Given the description of an element on the screen output the (x, y) to click on. 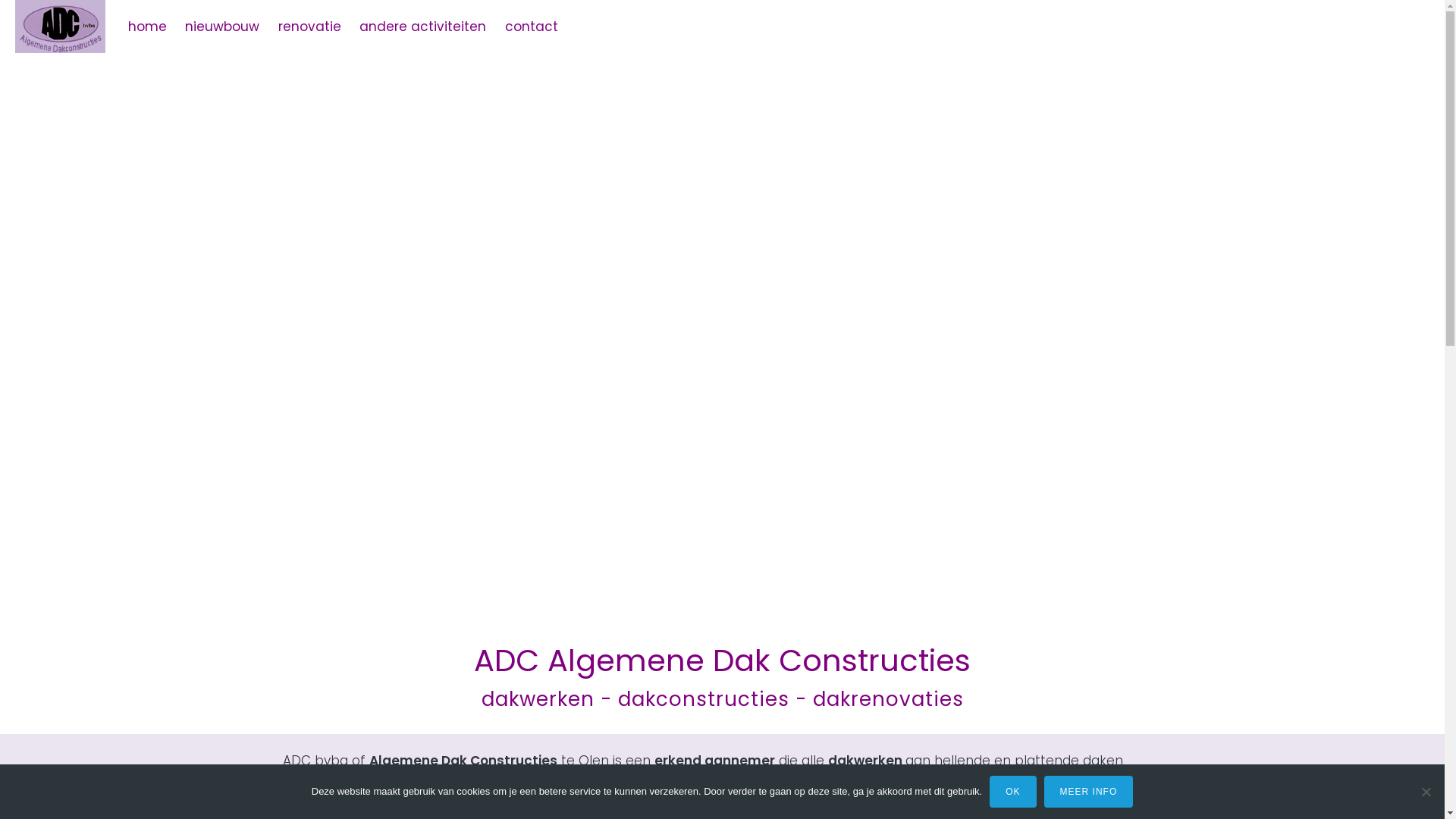
home Element type: text (147, 26)
renovatie Element type: text (309, 26)
OK Element type: text (1012, 791)
Nee Element type: hover (1425, 791)
nieuwbouw Element type: text (221, 26)
andere activiteiten Element type: text (422, 26)
contact Element type: text (531, 26)
MEER INFO Element type: text (1088, 791)
